Given the description of an element on the screen output the (x, y) to click on. 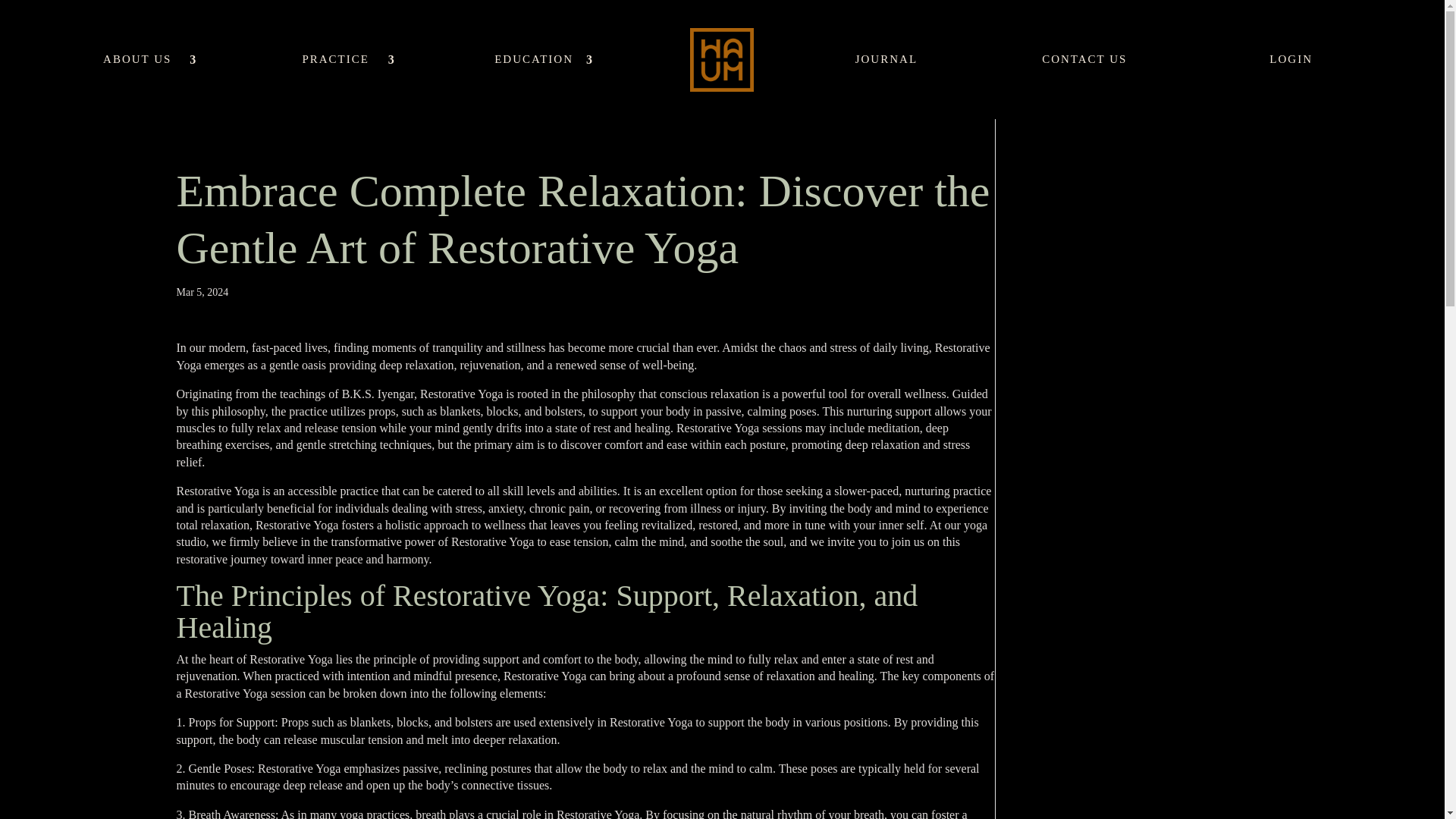
CONTACT US (1084, 85)
PRACTICE (343, 85)
EDUCATION (541, 85)
JOURNAL (886, 85)
ABOUT US (144, 85)
LOGIN (1291, 85)
